Given the description of an element on the screen output the (x, y) to click on. 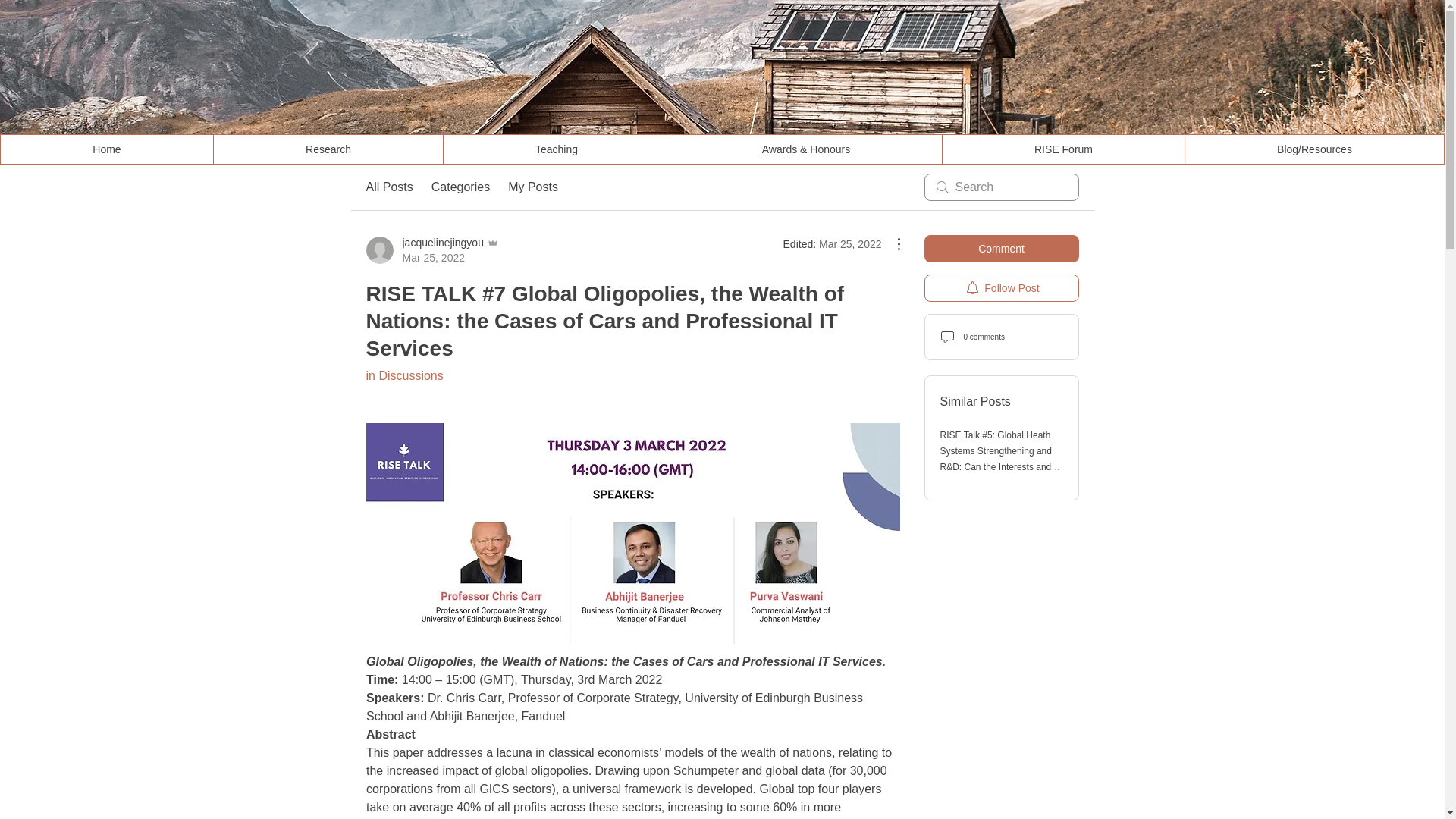
Teaching (555, 149)
Comment (1000, 248)
Research (327, 149)
Home (106, 149)
My Posts (532, 187)
All Posts (388, 187)
Categories (431, 250)
Follow Post (459, 187)
in Discussions (1000, 288)
RISE Forum (403, 375)
